Given the description of an element on the screen output the (x, y) to click on. 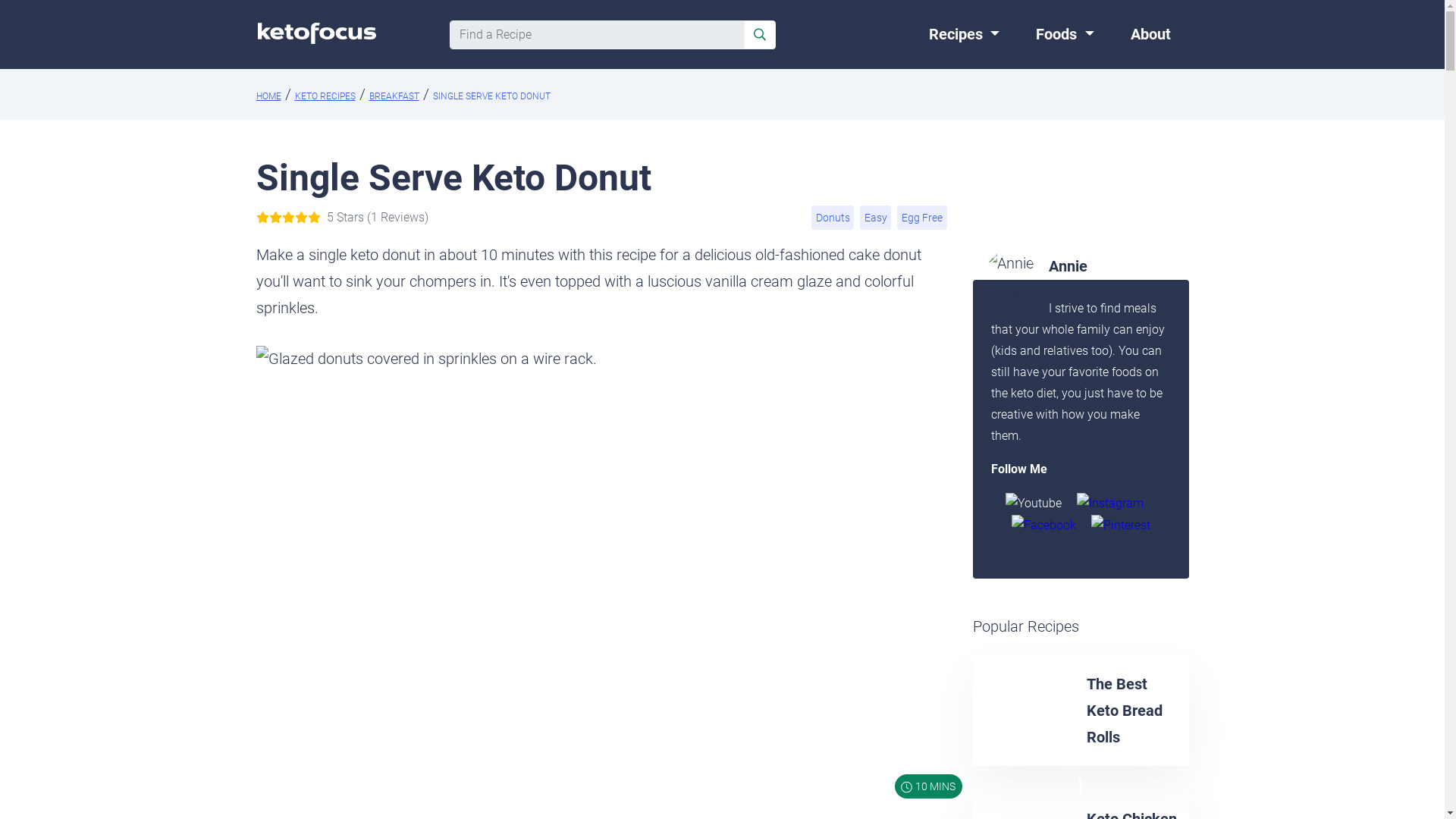
HOME (268, 95)
Egg Free (921, 216)
About (1150, 34)
Recipes (964, 34)
Easy (875, 216)
BREAKFAST (393, 95)
KETO RECIPES (324, 95)
Donuts (831, 216)
Foods (1064, 34)
